Given the description of an element on the screen output the (x, y) to click on. 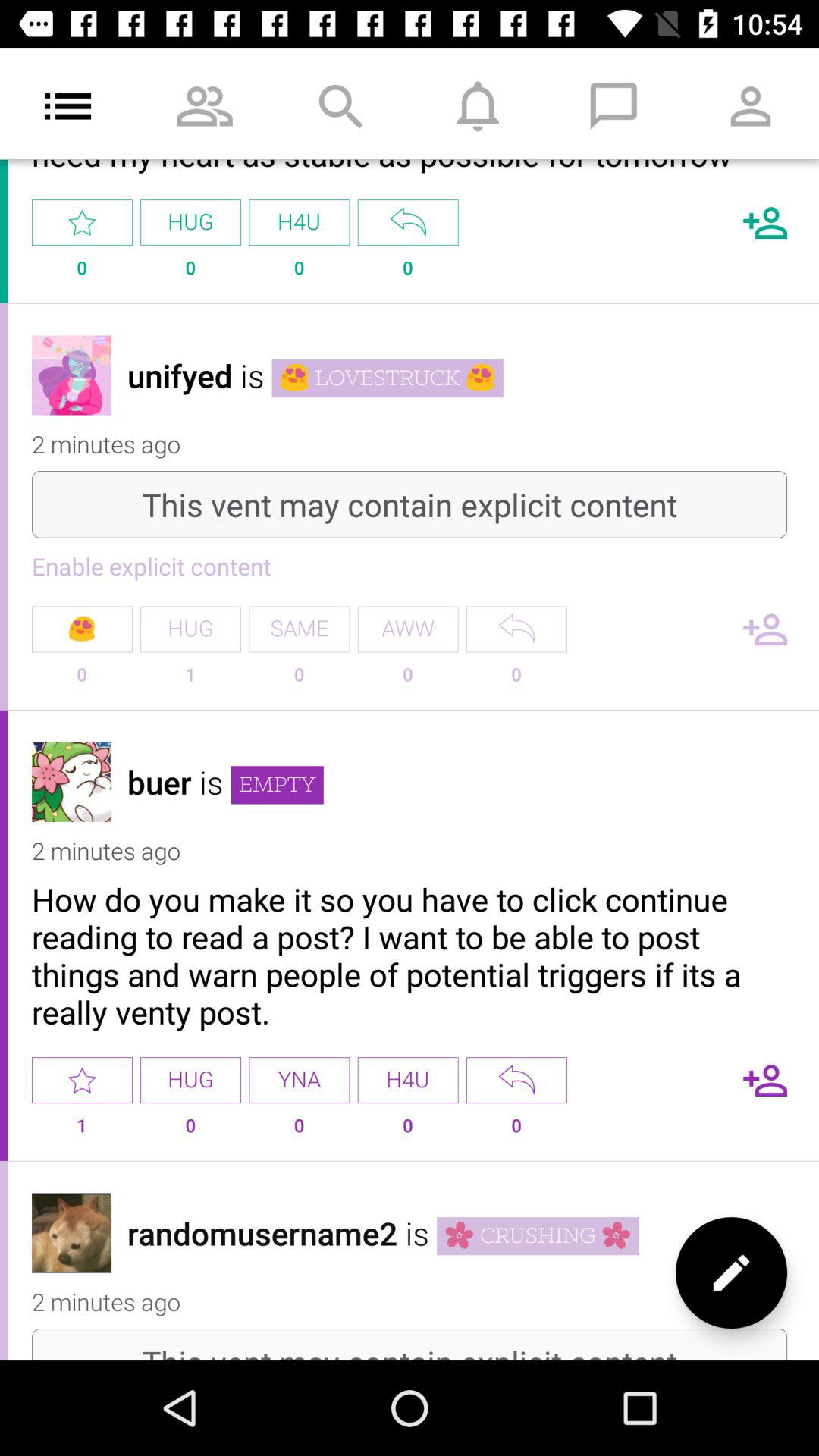
favorite it (81, 1080)
